Given the description of an element on the screen output the (x, y) to click on. 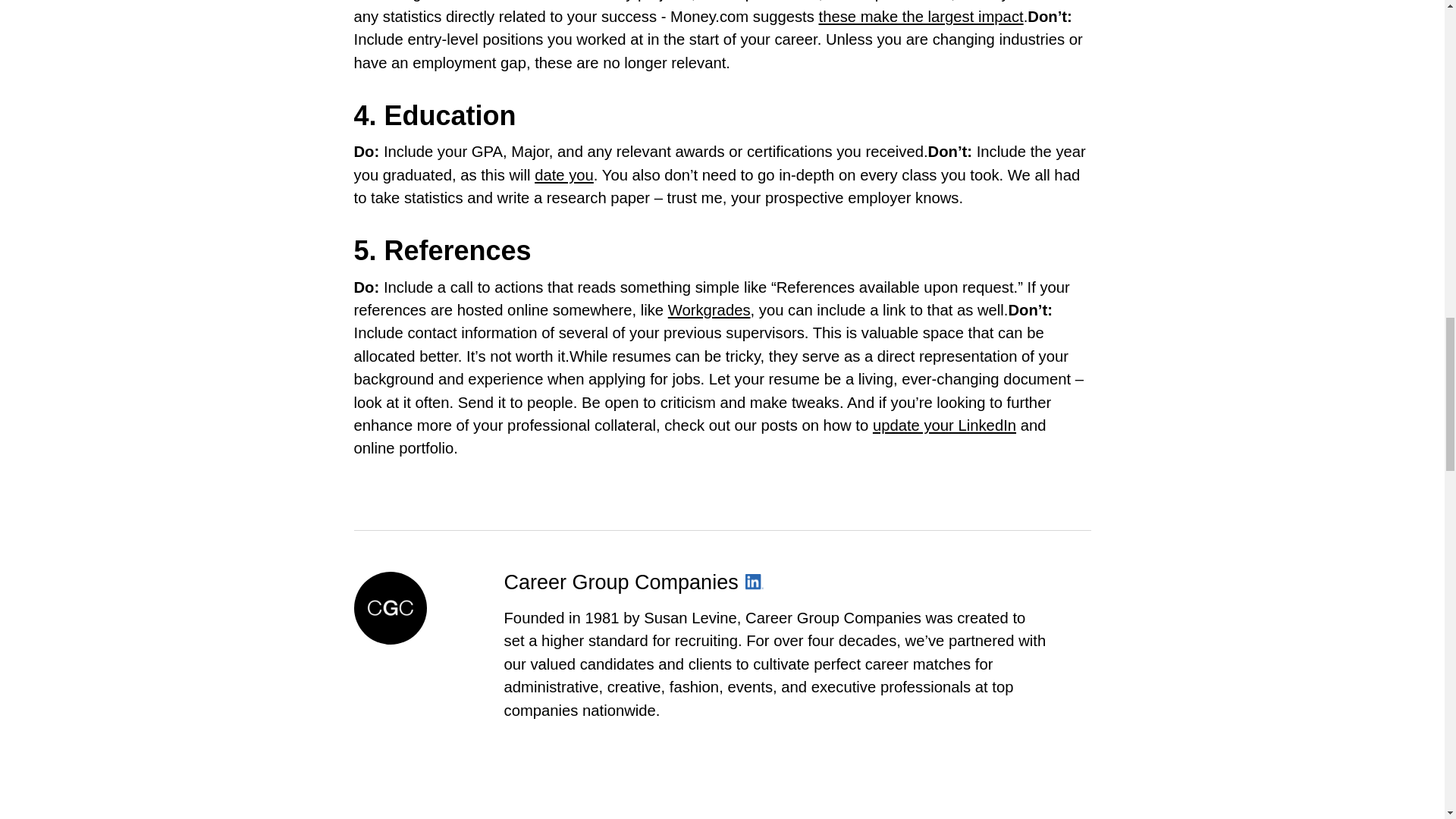
these make the largest impact (920, 16)
date you (564, 175)
Workgrades (709, 310)
update your LinkedIn (944, 425)
